Given the description of an element on the screen output the (x, y) to click on. 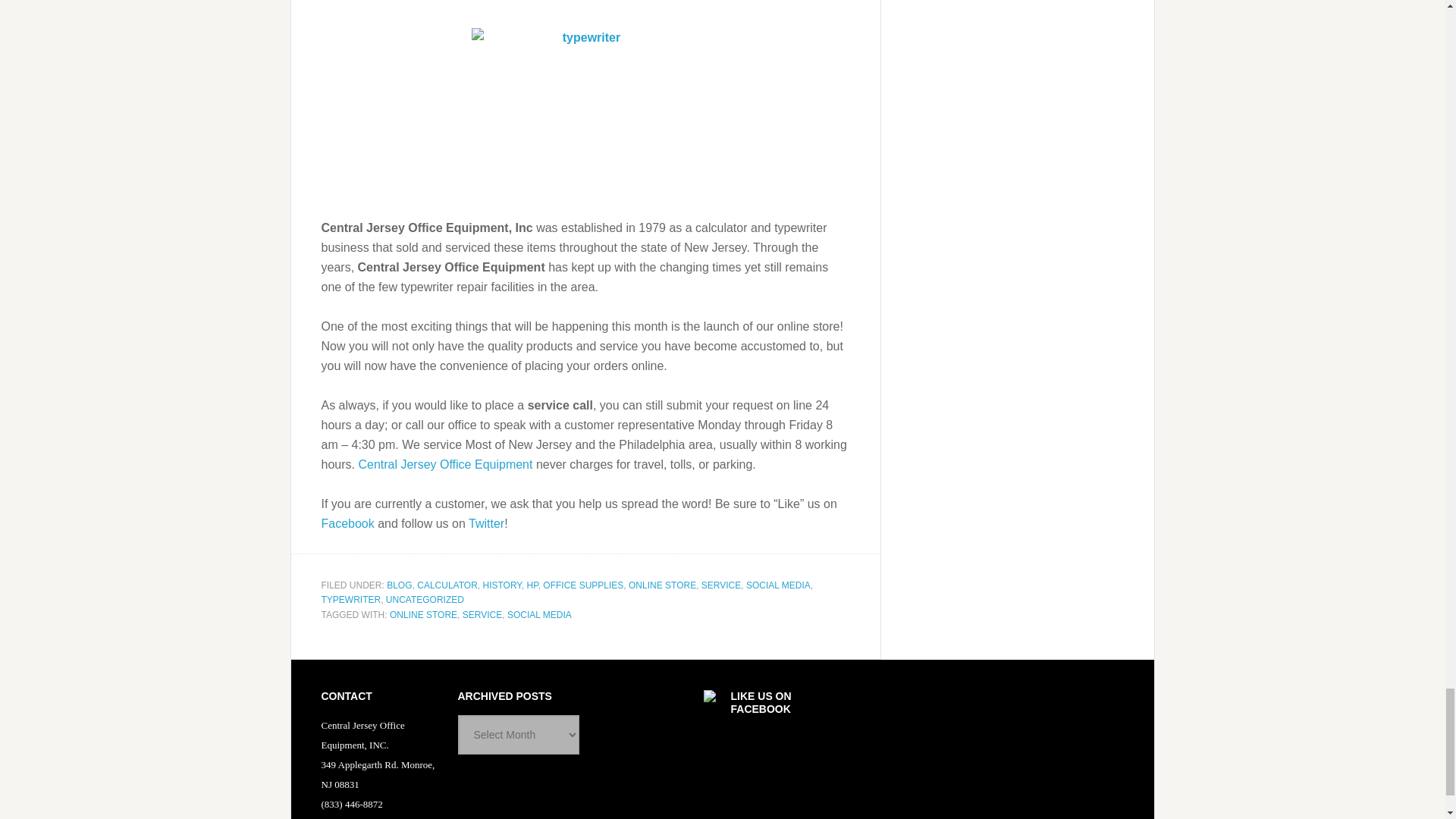
CJOfficeEquip Twitter (485, 522)
CJOE (584, 113)
request service (445, 463)
Central Jersey Office Equipment (445, 463)
cjoe Facebook (347, 522)
